Given the description of an element on the screen output the (x, y) to click on. 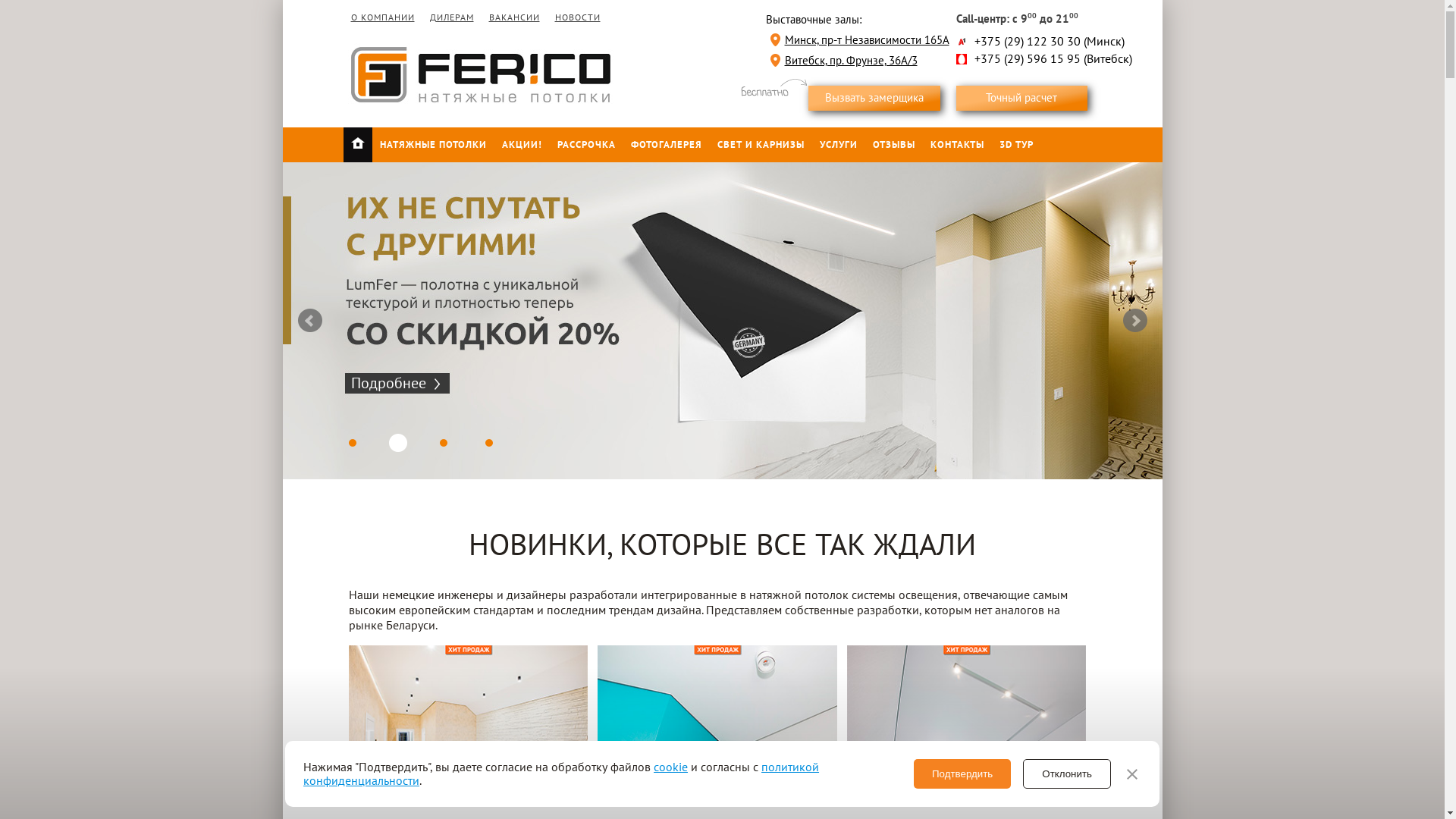
EuroLumfer Element type: hover (717, 724)
cookie Element type: text (670, 766)
